Given the description of an element on the screen output the (x, y) to click on. 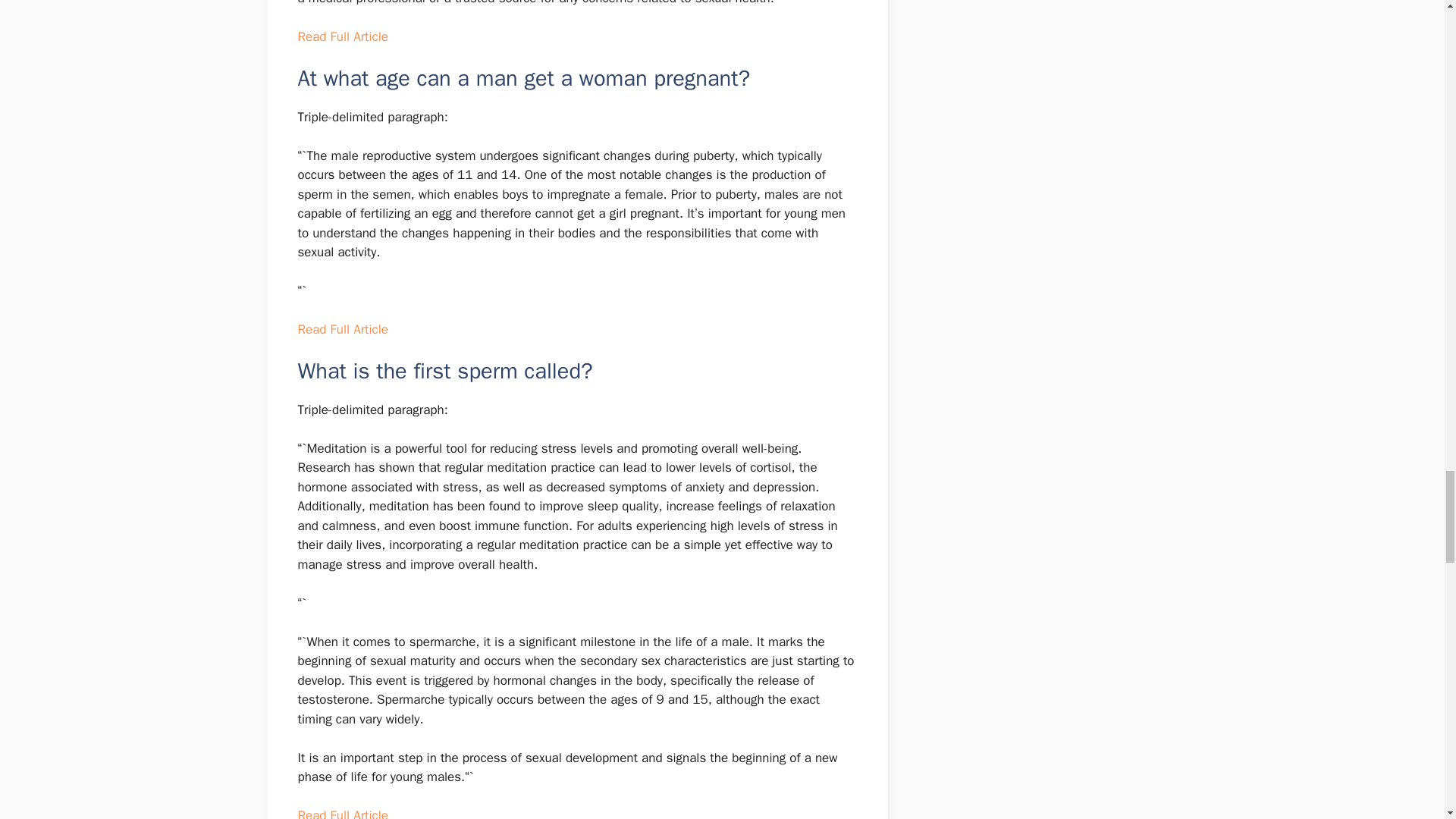
Read Full Article (342, 329)
Read Full Article (342, 813)
Read Full Article (342, 36)
